Given the description of an element on the screen output the (x, y) to click on. 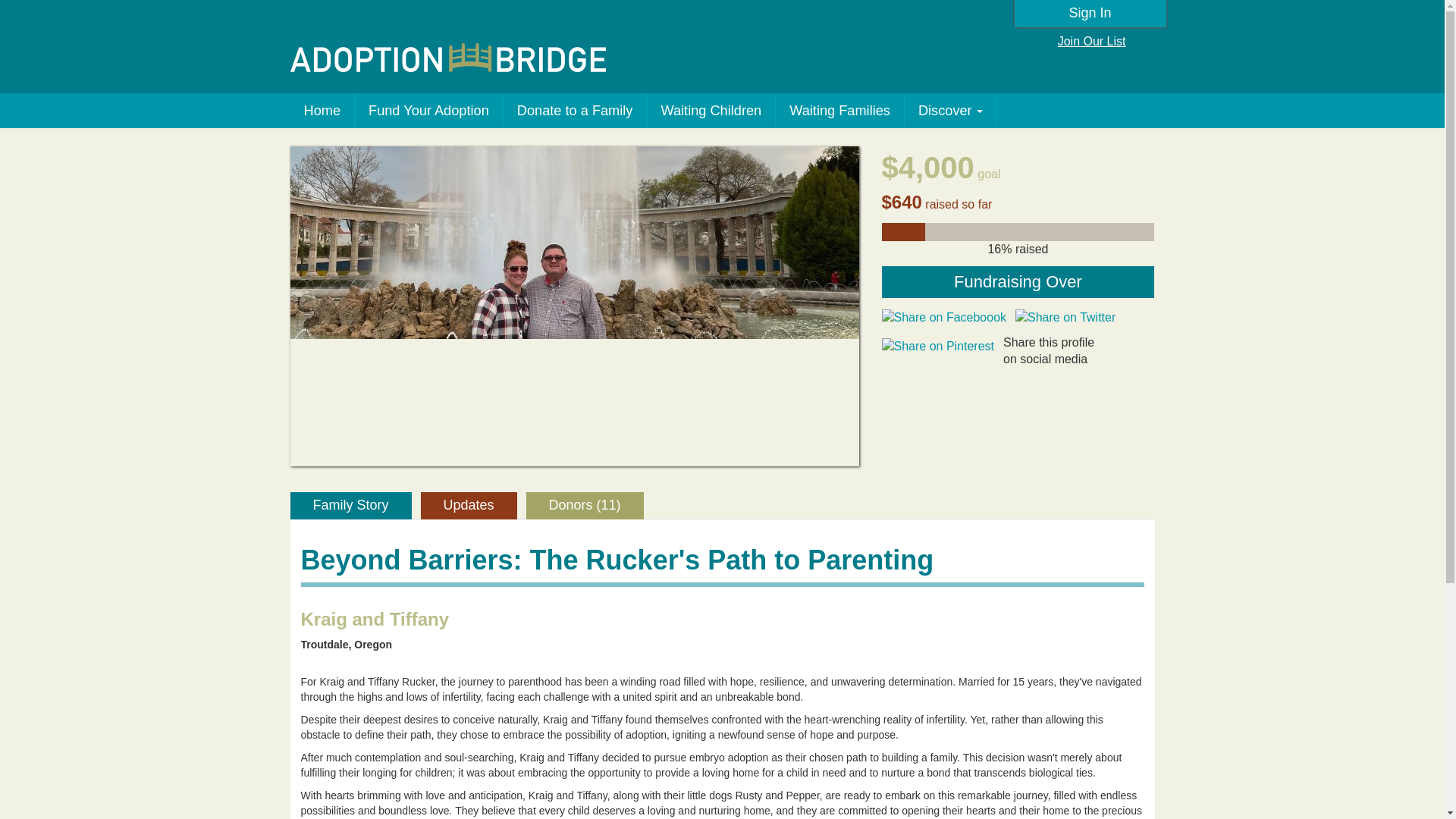
Donate to a Family (575, 110)
Home (322, 110)
Sign In (1090, 13)
Discover (950, 110)
Fund Your Adoption (429, 110)
Fundraising Over (1017, 281)
Waiting Children (711, 110)
Family Story (349, 505)
Return to Home Page (447, 57)
Waiting Families (840, 110)
